Given the description of an element on the screen output the (x, y) to click on. 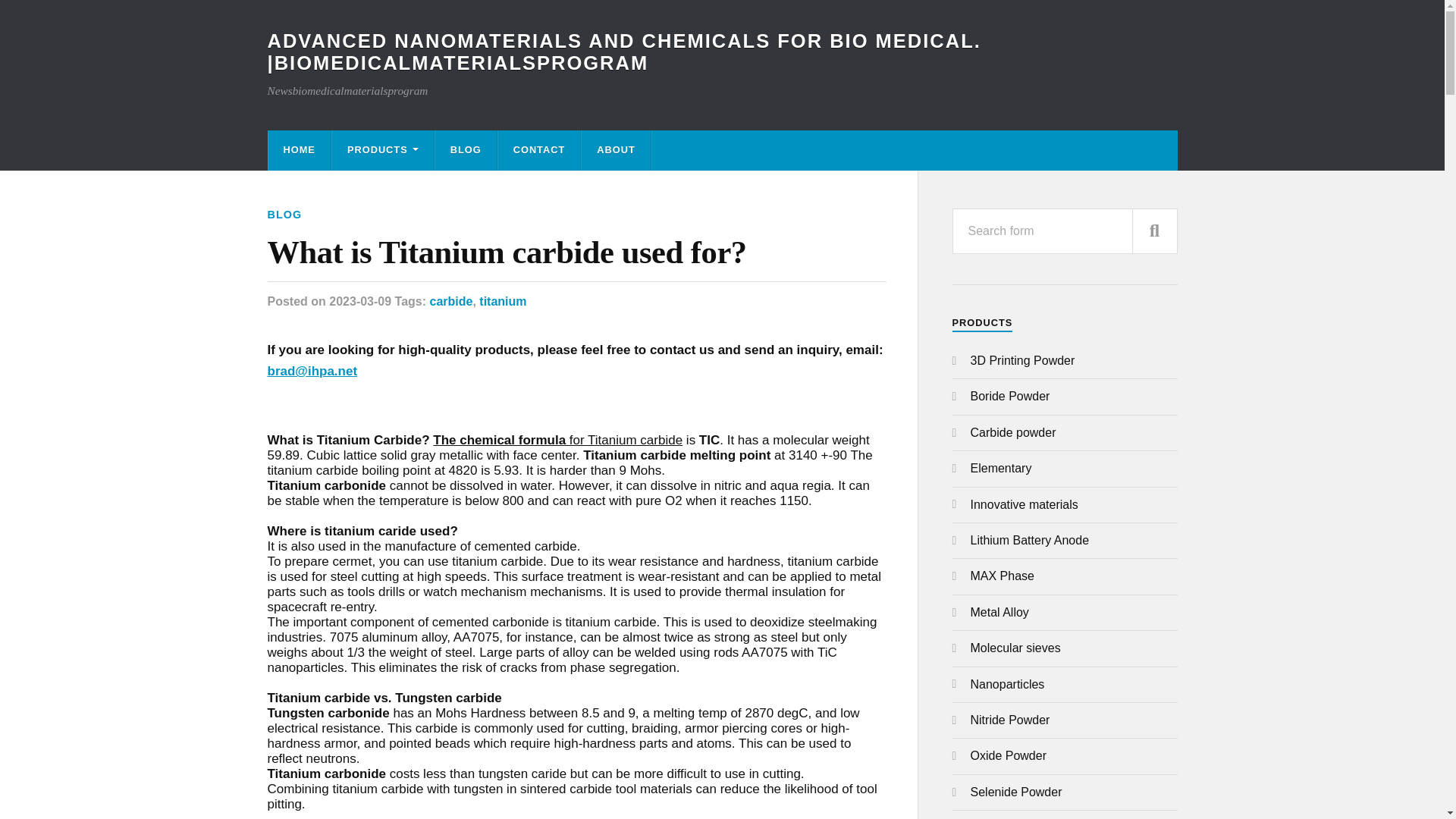
CONTACT (538, 150)
ABOUT (615, 150)
PRODUCTS (382, 150)
HOME (298, 150)
BLOG (465, 150)
